Given the description of an element on the screen output the (x, y) to click on. 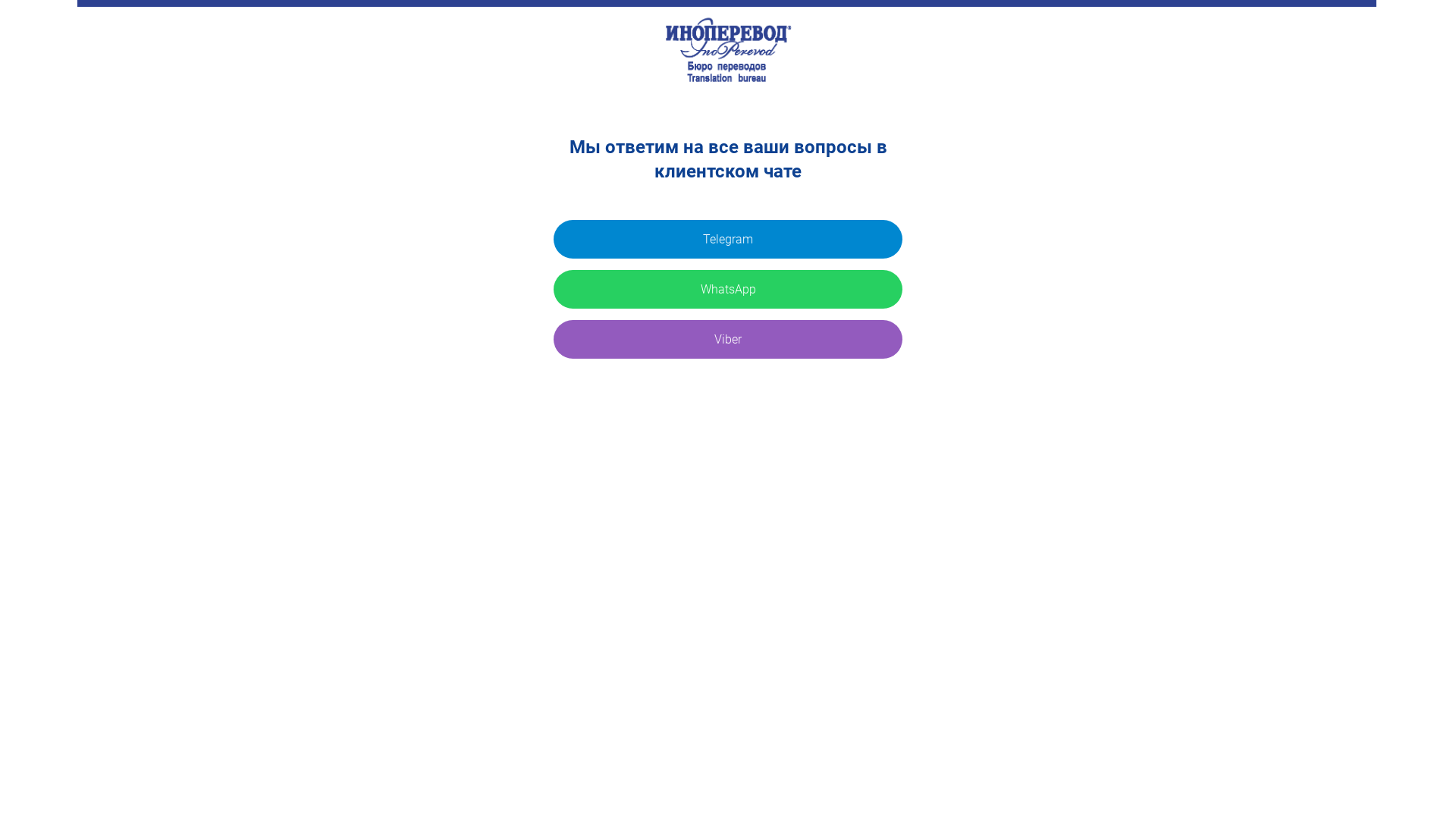
WhatsApp Element type: text (727, 288)
Viber Element type: text (727, 339)
Telegram Element type: text (727, 238)
